Given the description of an element on the screen output the (x, y) to click on. 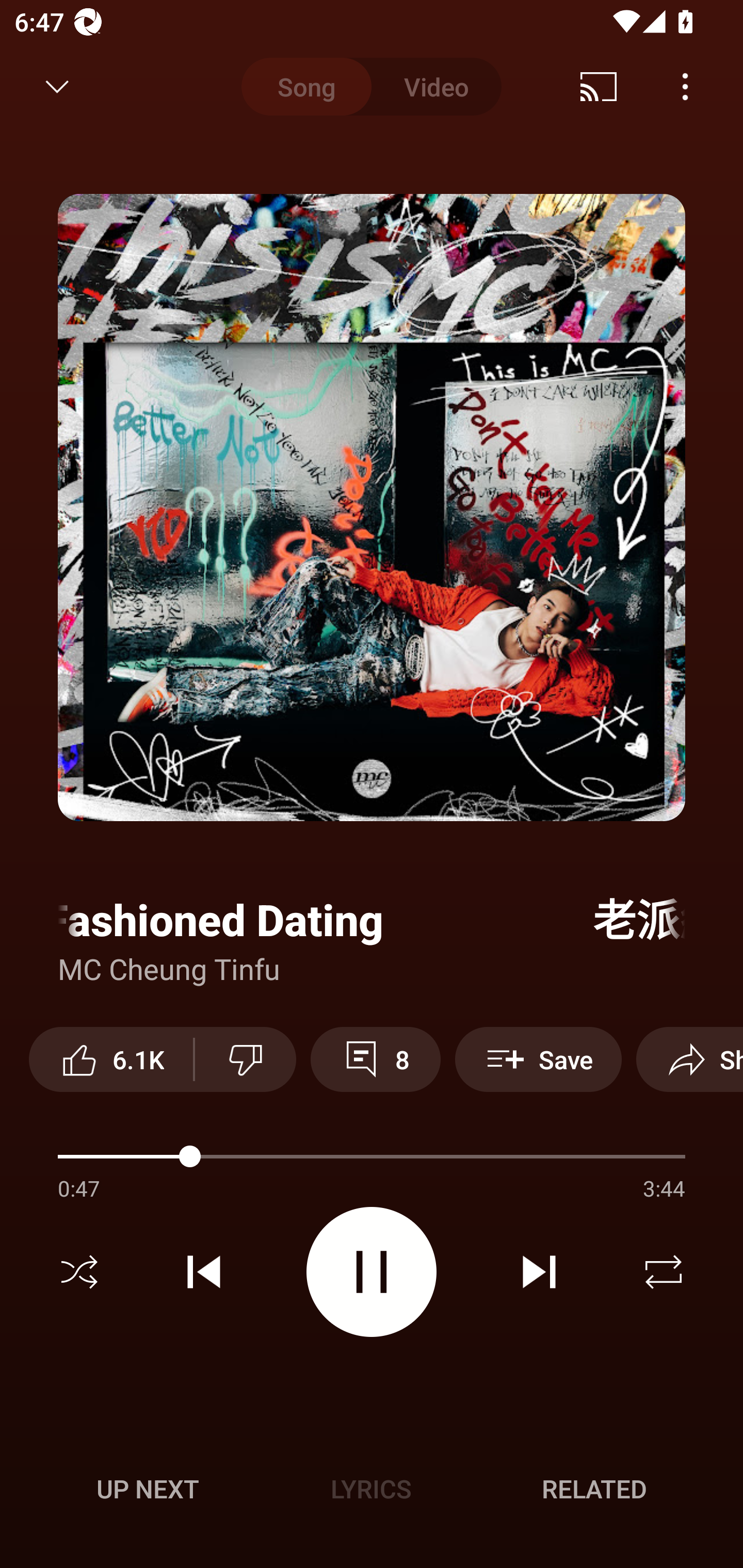
Minimize (57, 86)
Cast. Disconnected (598, 86)
Menu (684, 86)
6.1K like this video along with 6,122 other people (110, 1059)
Dislike (245, 1059)
8 View 8 comments (375, 1059)
Save Save to playlist (537, 1059)
Share (689, 1059)
Pause video (371, 1272)
Shuffle off (79, 1272)
Previous track (203, 1272)
Next track (538, 1272)
Repeat off (663, 1272)
Up next UP NEXT Lyrics LYRICS Related RELATED (371, 1491)
Lyrics LYRICS (370, 1488)
Related RELATED (594, 1488)
